Given the description of an element on the screen output the (x, y) to click on. 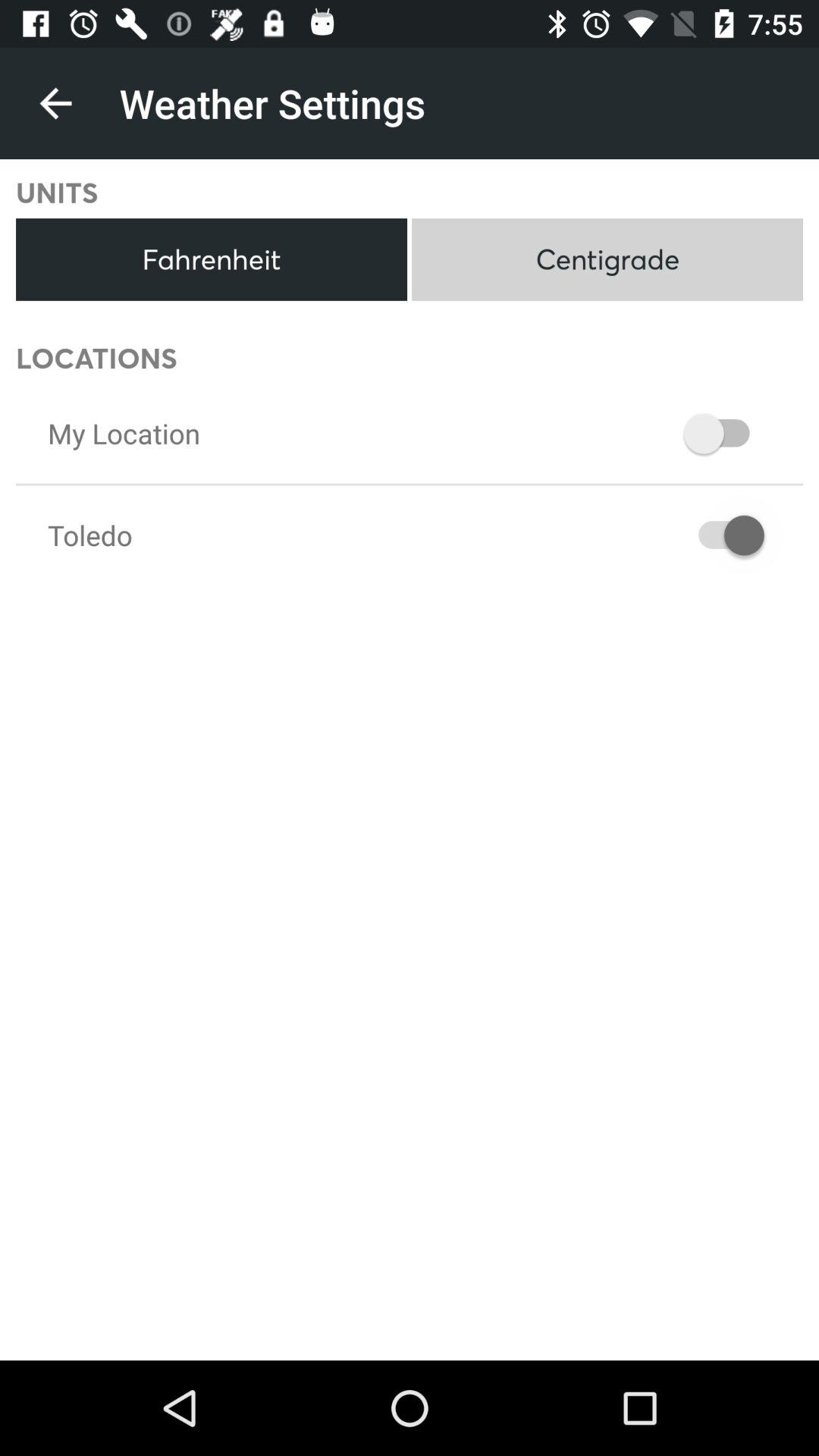
click the fahrenheit item (211, 259)
